Given the description of an element on the screen output the (x, y) to click on. 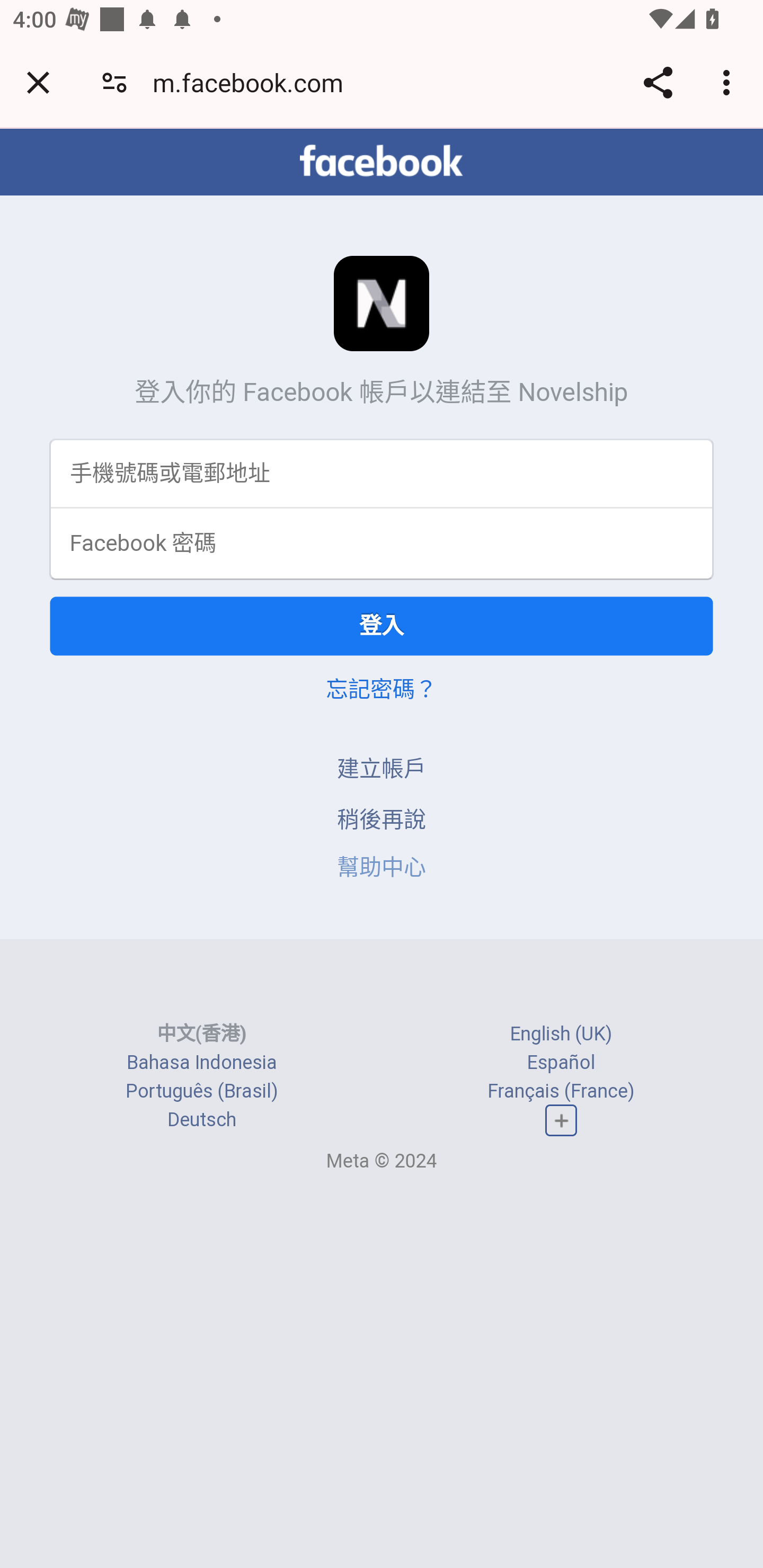
Close tab (38, 82)
Share (657, 82)
Customize and control Google Chrome (729, 82)
Connection is secure (114, 81)
m.facebook.com (254, 81)
facebook (381, 160)
登入 (381, 626)
忘記密碼？ (381, 688)
建立帳戶 (381, 768)
稍後再說 (381, 818)
幫助中心 (381, 865)
English (UK) (560, 1033)
Bahasa Indonesia (201, 1062)
Español (560, 1062)
Português (Brasil) (201, 1090)
Français (France) (560, 1090)
完整的語言清單 (560, 1119)
Deutsch (201, 1119)
